Given the description of an element on the screen output the (x, y) to click on. 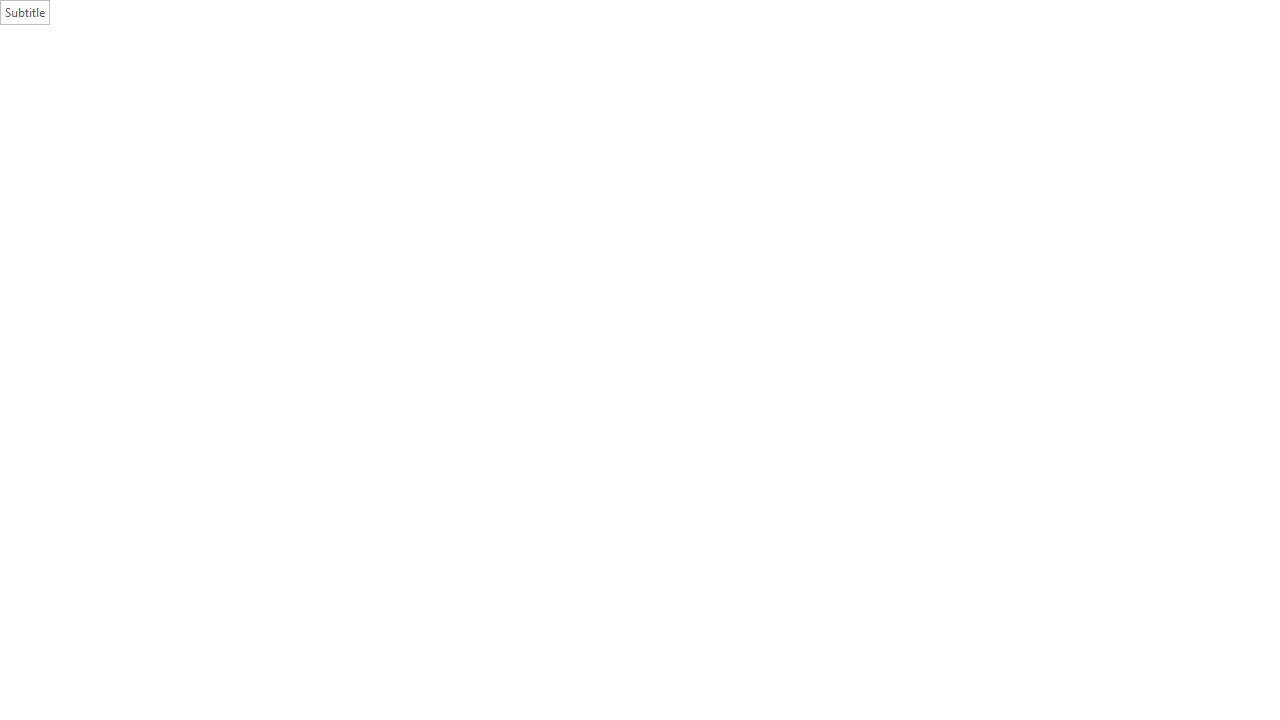
Shading RGB(0, 0, 0) (699, 119)
Cut (73, 78)
Pages (105, 264)
Character Border (489, 87)
Enclose Characters... (489, 119)
Text Highlight Color (395, 119)
Line and Paragraph Spacing (661, 119)
Subtitle (1208, 100)
Strikethrough (270, 119)
Justify (599, 119)
